Given the description of an element on the screen output the (x, y) to click on. 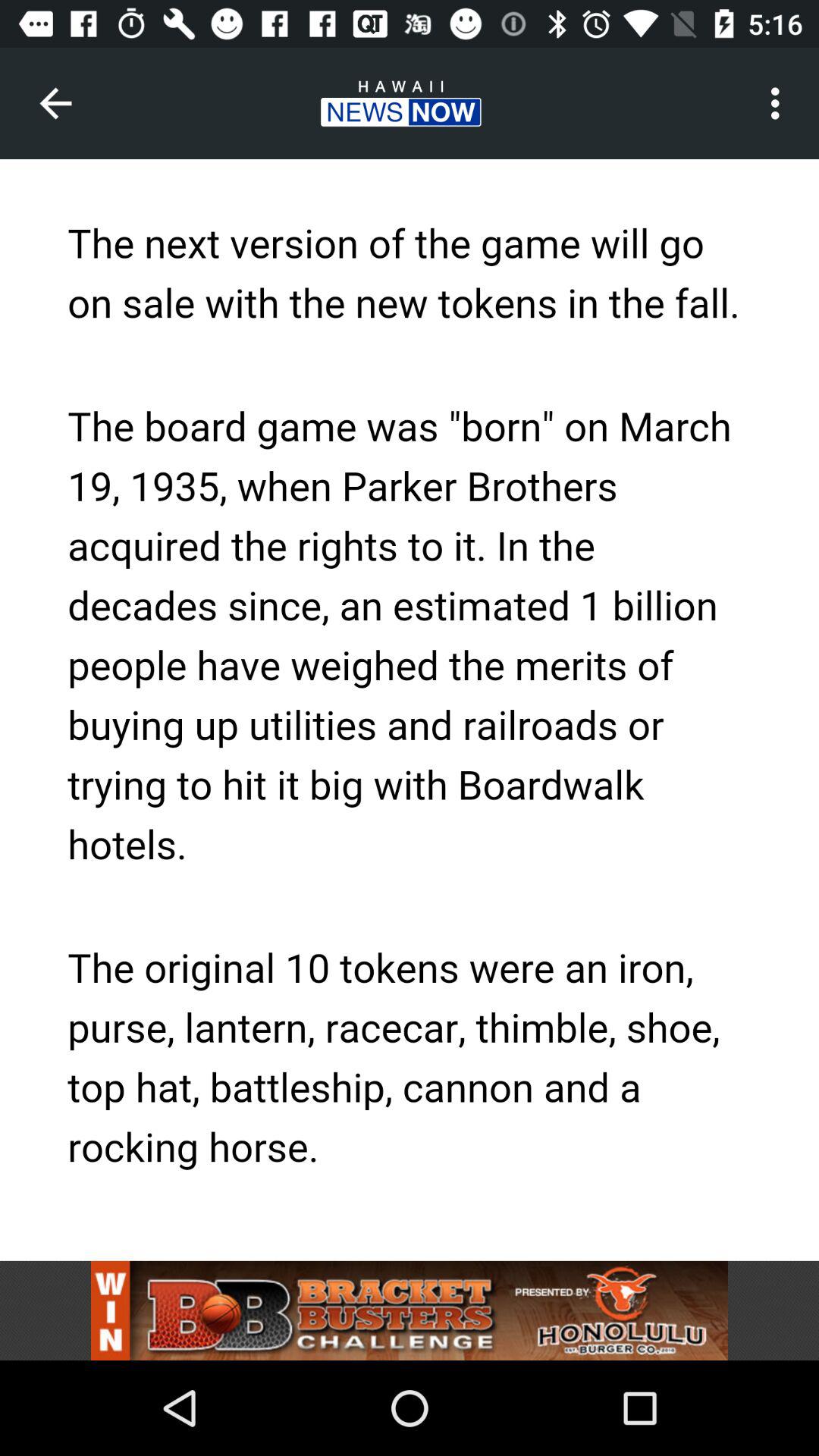
open (409, 1310)
